Given the description of an element on the screen output the (x, y) to click on. 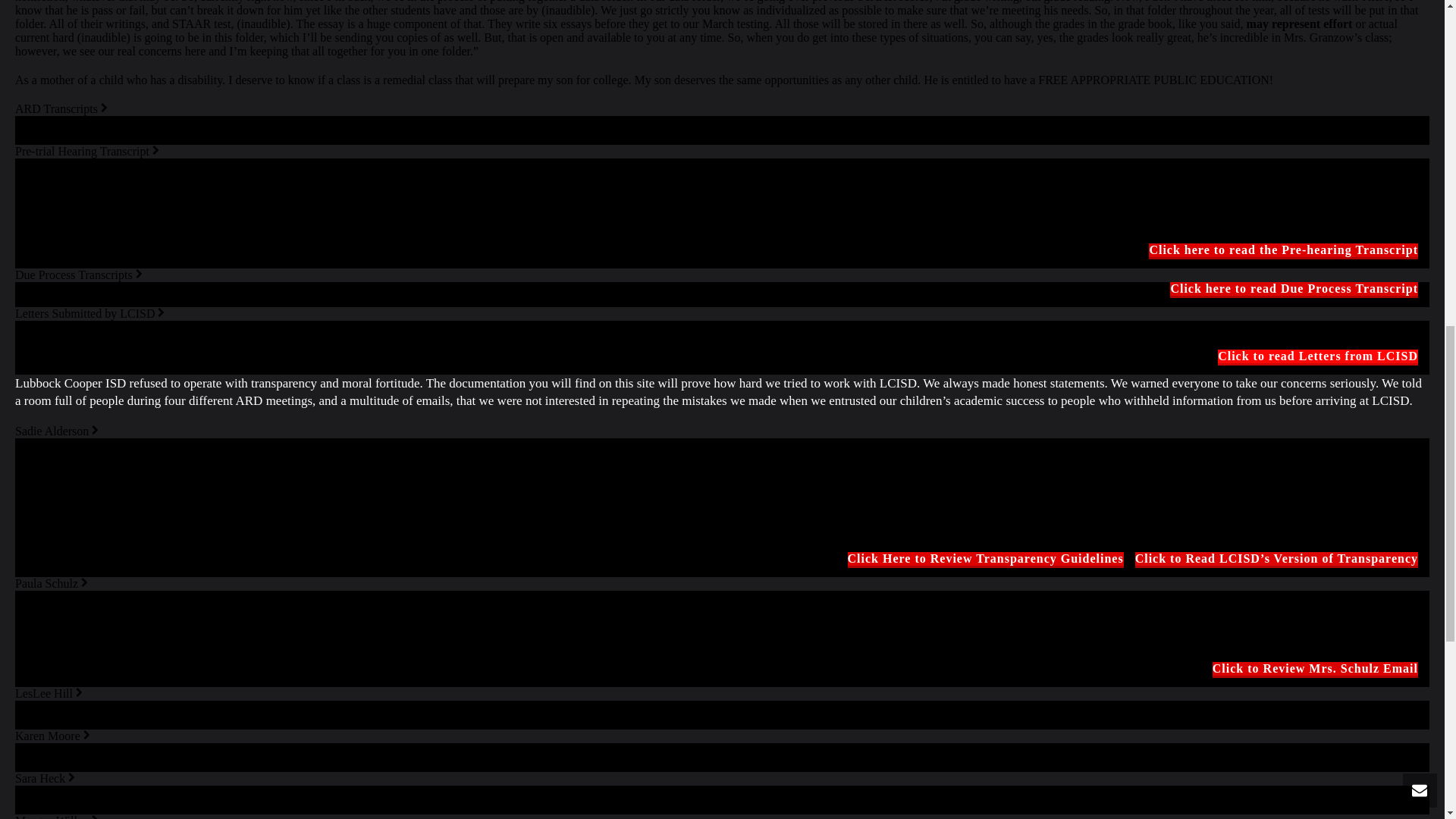
Click here to read Due Process Transcript (1294, 288)
Click to Review Mrs. Schulz Email (1315, 668)
Click Here to Review Transparency Guidelines (985, 558)
Click to read Letters from LCISD (1317, 356)
Page 35 (721, 43)
Click to Review Mrs. Schulz Email (1315, 668)
Click to read Letters from LCISD (1317, 356)
Click here to read Due Process Transcript (1294, 288)
Click here to read the Pre-hearing Transcript (1283, 250)
Click here to read the Pre-hearing Transcript (1283, 250)
